Given the description of an element on the screen output the (x, y) to click on. 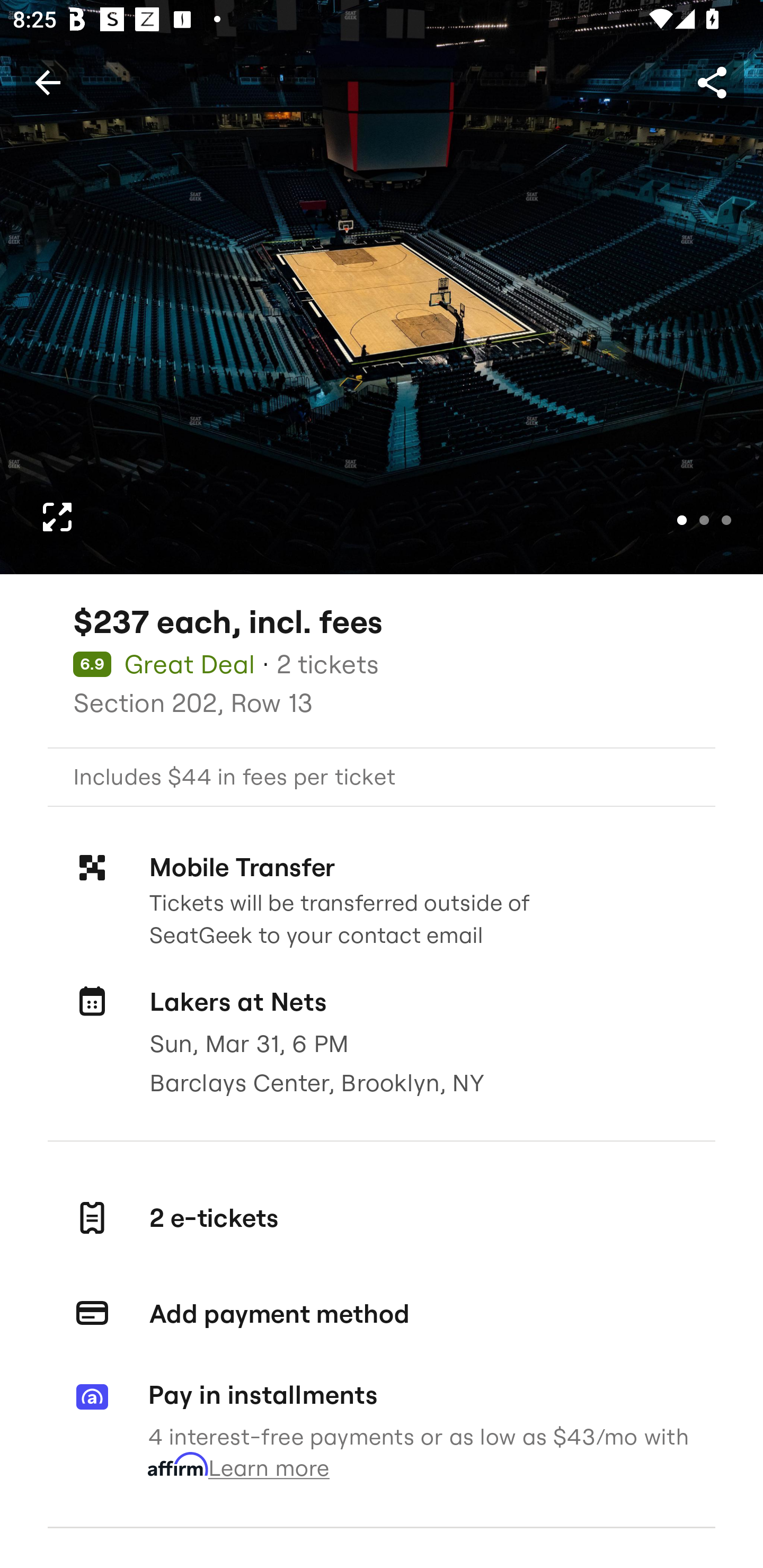
Back (47, 81)
Share (711, 81)
Expand image to fullscreen (57, 517)
2 e-tickets (381, 1217)
Add payment method (381, 1313)
